Given the description of an element on the screen output the (x, y) to click on. 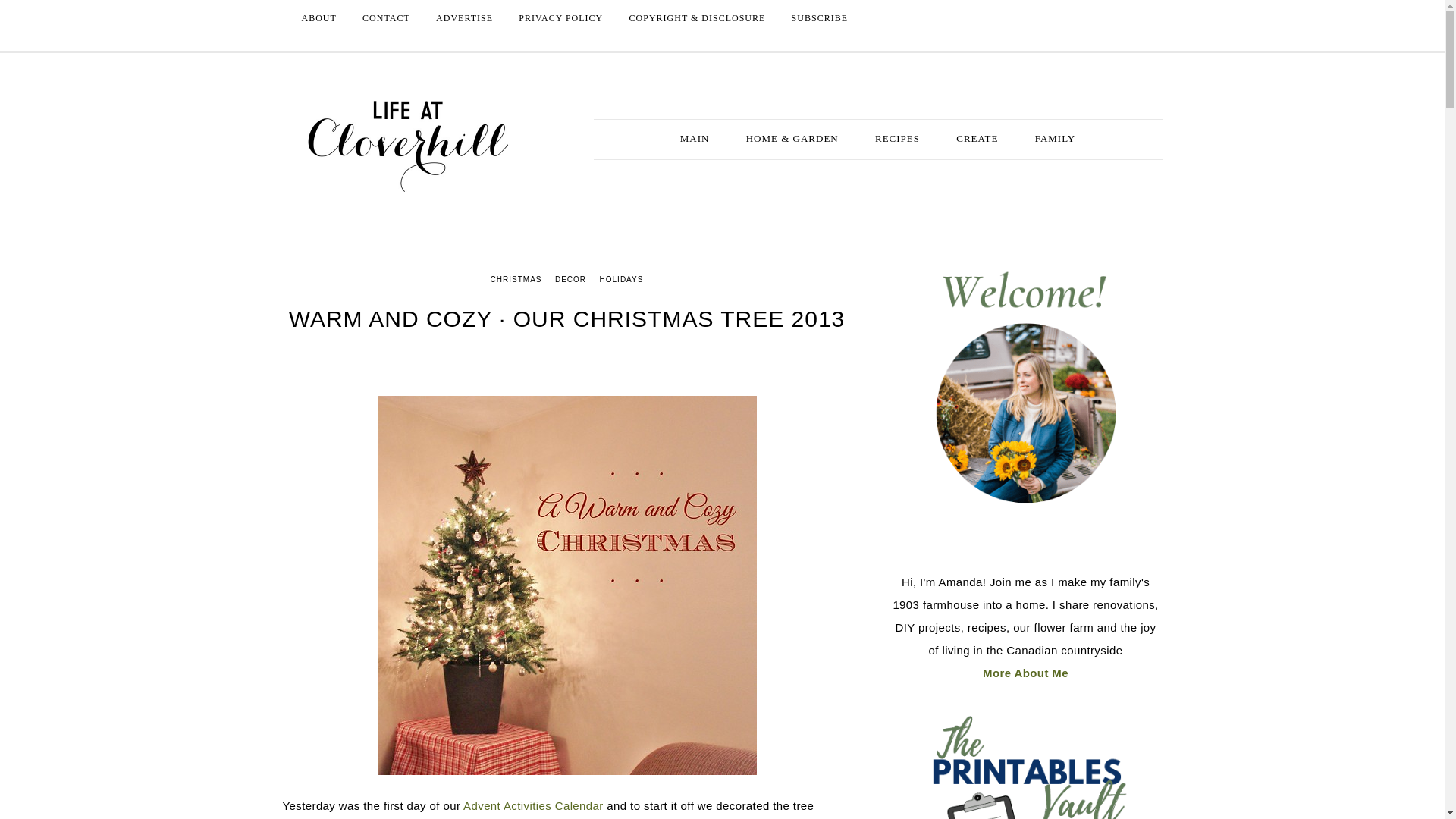
CREATE (976, 138)
ADVERTISE (464, 18)
ABOUT (318, 18)
HOLIDAYS (621, 279)
MAIN (694, 138)
SUBSCRIBE (819, 18)
RECIPES (897, 138)
CONTACT (386, 18)
DECOR (570, 279)
CHRISTMAS (515, 279)
FAMILY (1055, 138)
LIFE AT CLOVERHILL (407, 146)
PRIVACY POLICY (560, 18)
